Given the description of an element on the screen output the (x, y) to click on. 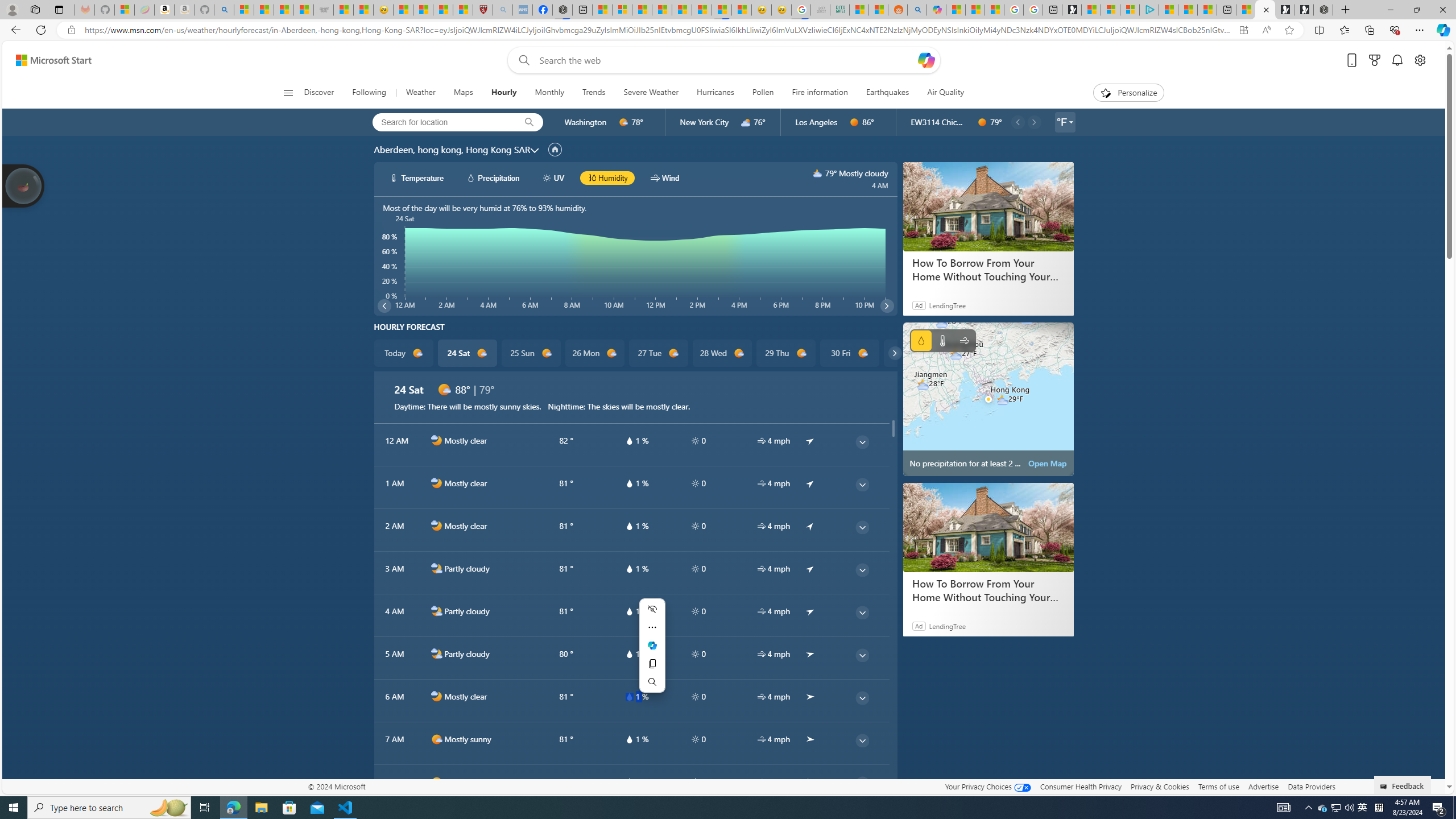
Severe Weather (650, 92)
These 3 Stocks Pay You More Than 5% to Own Them (1206, 9)
